Given the description of an element on the screen output the (x, y) to click on. 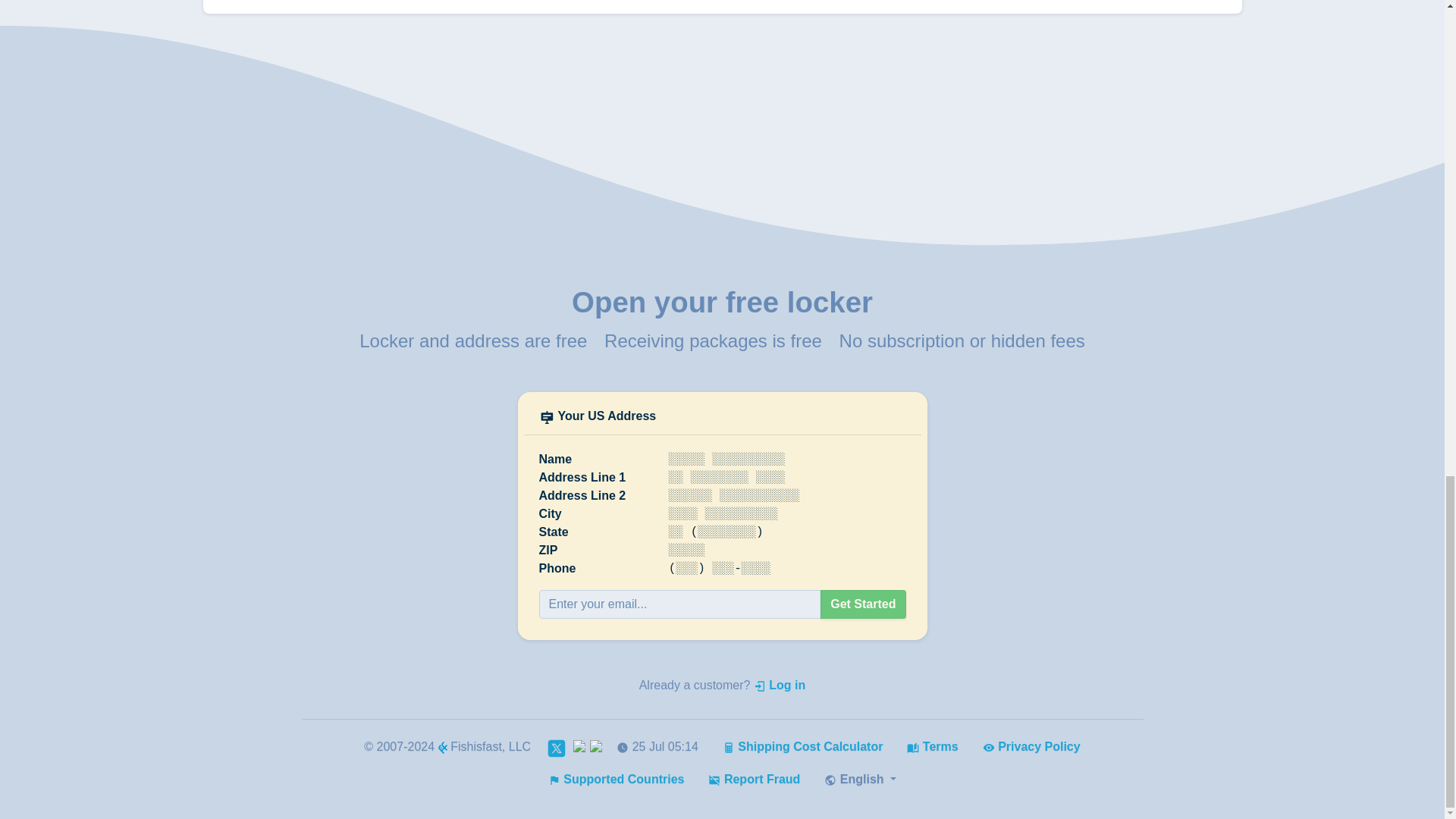
Get Started (863, 604)
Get Started (863, 604)
Log in (779, 684)
